Given the description of an element on the screen output the (x, y) to click on. 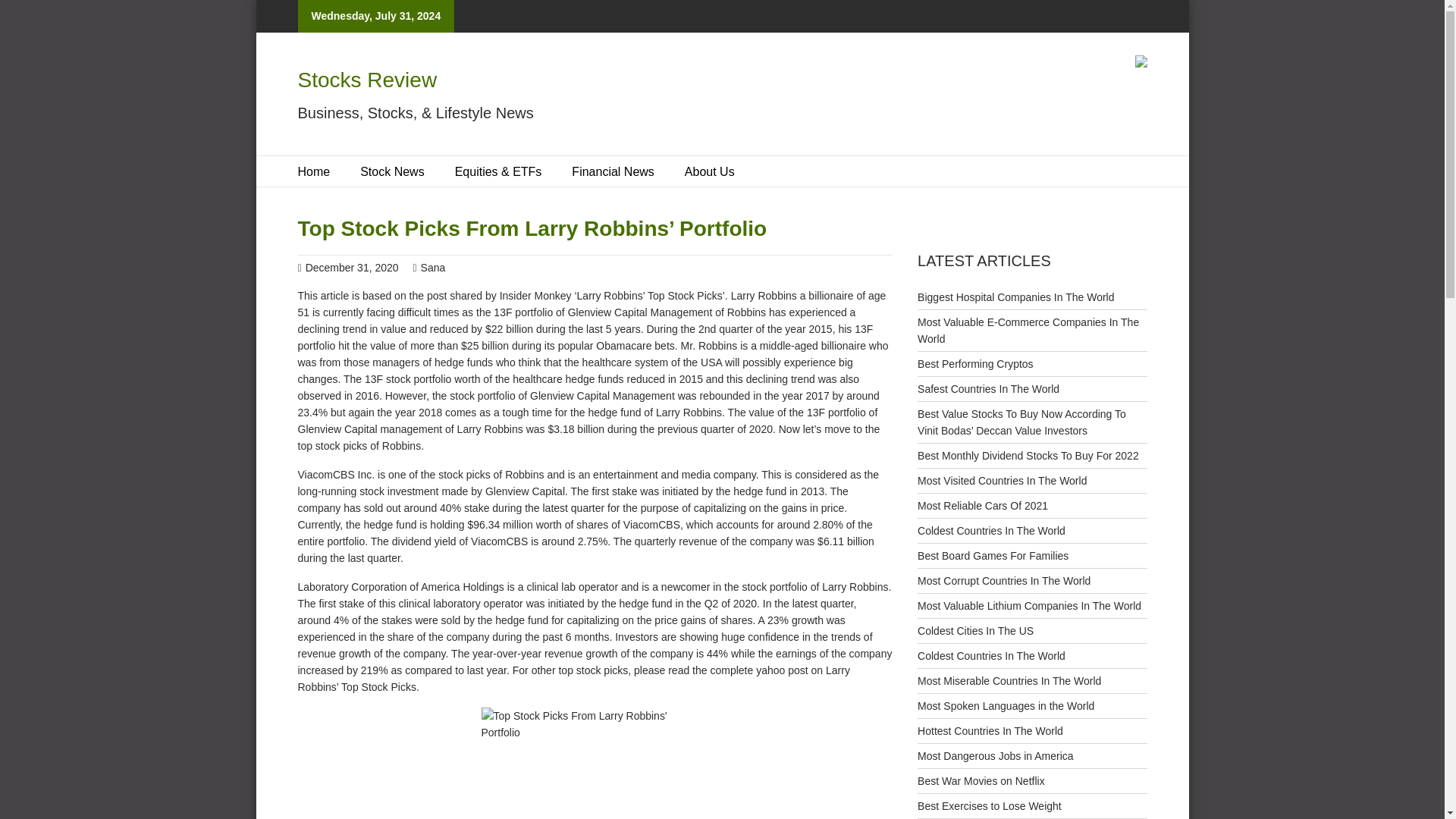
Hottest Countries In The World (989, 730)
Most Dangerous Jobs in America (995, 755)
Most Valuable Lithium Companies In The World (1029, 604)
Most Spoken Languages in the World (1005, 705)
Best Performing Cryptos (975, 363)
Coldest Cities In The US (975, 630)
Stocks Review (366, 79)
Home (313, 171)
Financial News (612, 171)
Best Monthly Dividend Stocks To Buy For 2022 (1027, 454)
Biggest Hospital Companies In The World (1015, 297)
Most Corrupt Countries In The World (1003, 580)
Most Reliable Cars Of 2021 (982, 504)
